Given the description of an element on the screen output the (x, y) to click on. 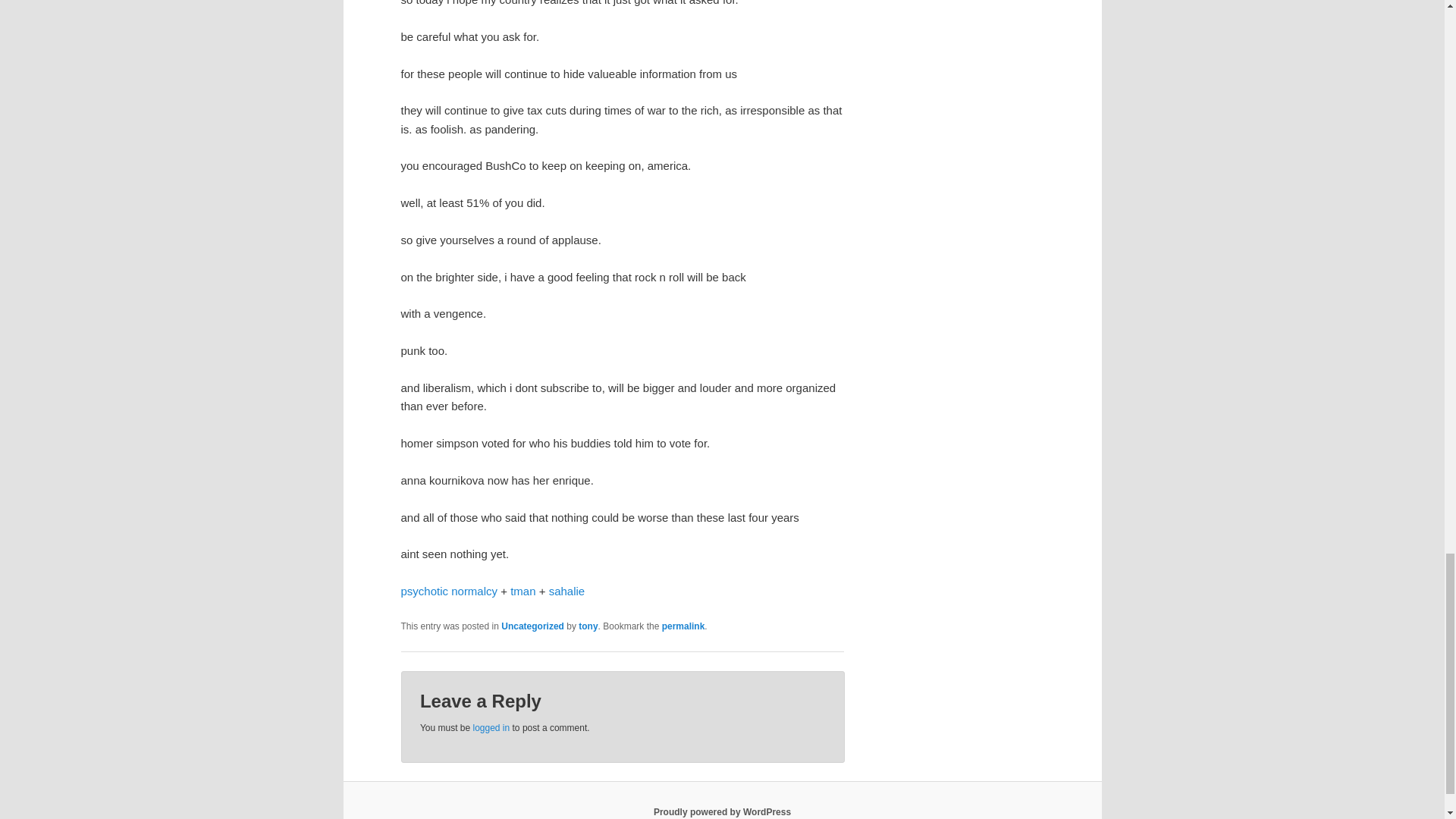
permalink (683, 625)
Uncategorized (532, 625)
psychotic normalcy (448, 590)
Semantic Personal Publishing Platform (721, 811)
tman (523, 590)
Permalink to america voted, (683, 625)
logged in (490, 727)
sahalie (566, 590)
tony (587, 625)
